Given the description of an element on the screen output the (x, y) to click on. 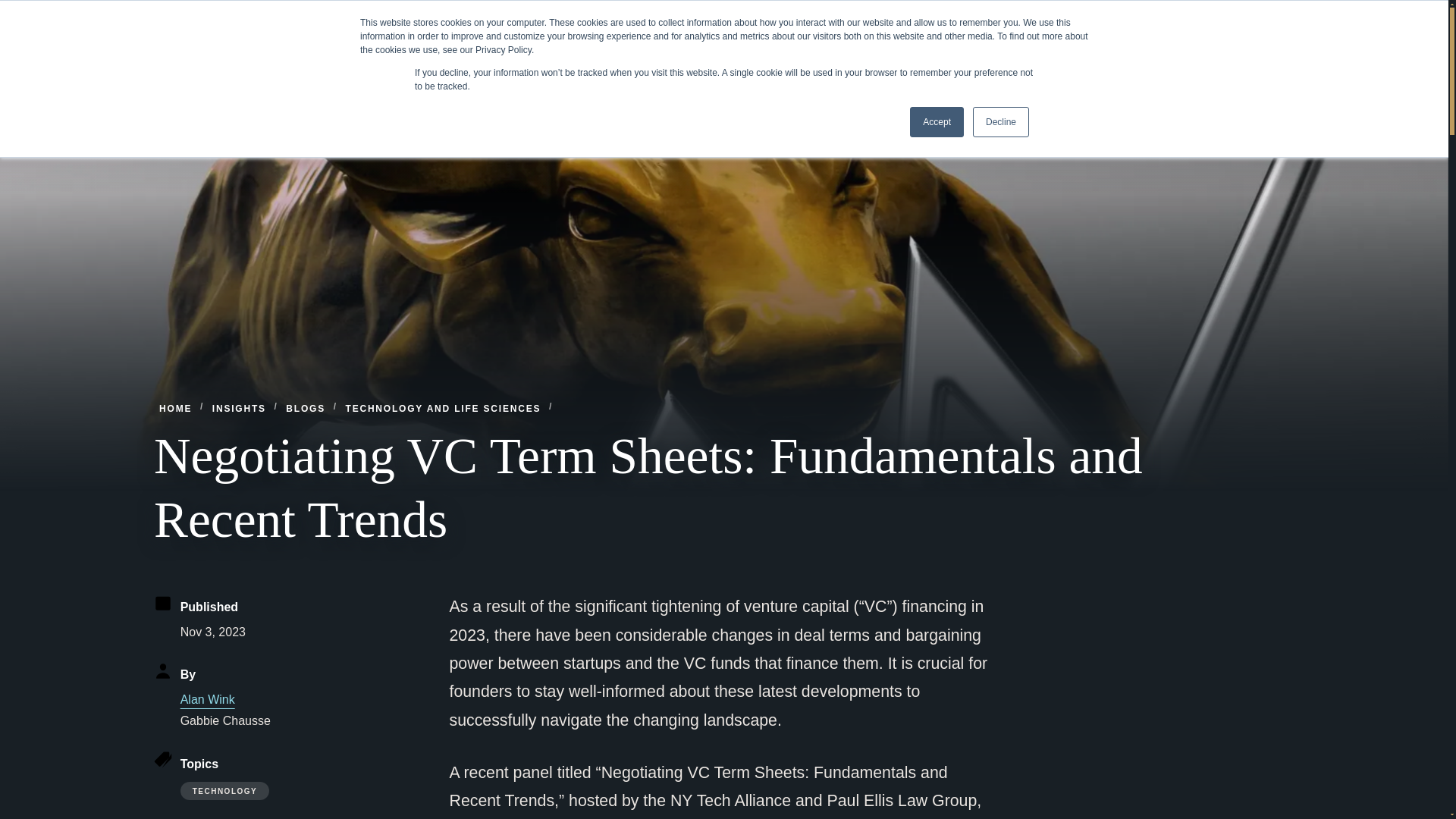
Skip to content (12, 6)
Decline (1000, 122)
Client Resources (1175, 17)
EisnerAmper Home (256, 67)
Accept (936, 122)
Contact Us (1039, 17)
Careers (1100, 17)
Services (756, 67)
Search (1259, 17)
